Given the description of an element on the screen output the (x, y) to click on. 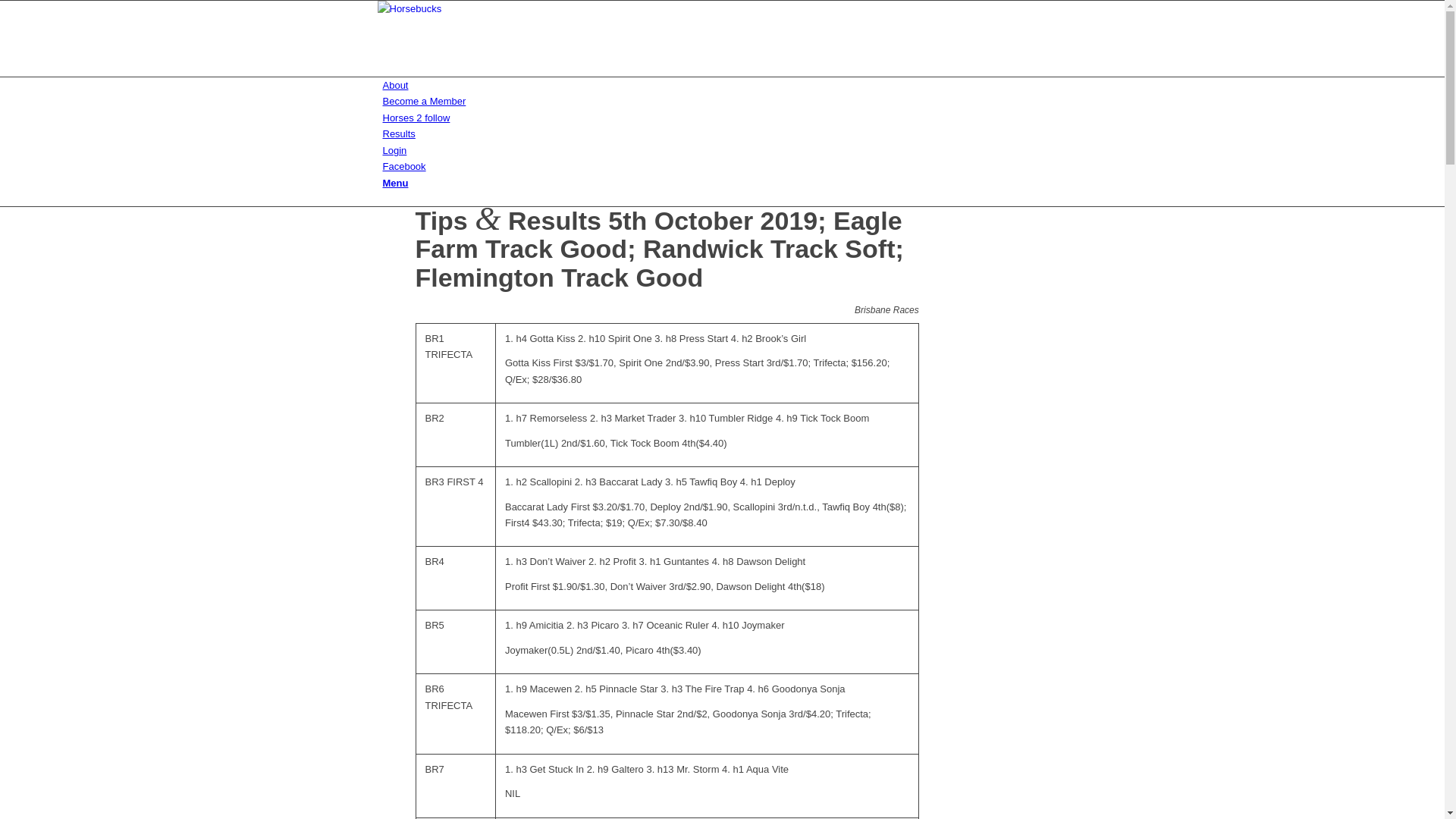
Menu Element type: text (394, 182)
Login Element type: text (394, 150)
Horse-Bucks-Always-Enjoy-01_web Element type: hover (491, 38)
Become a Member Element type: text (423, 100)
Results Element type: text (398, 133)
Horses 2 follow Element type: text (415, 117)
Facebook Element type: text (403, 166)
About Element type: text (394, 85)
